Given the description of an element on the screen output the (x, y) to click on. 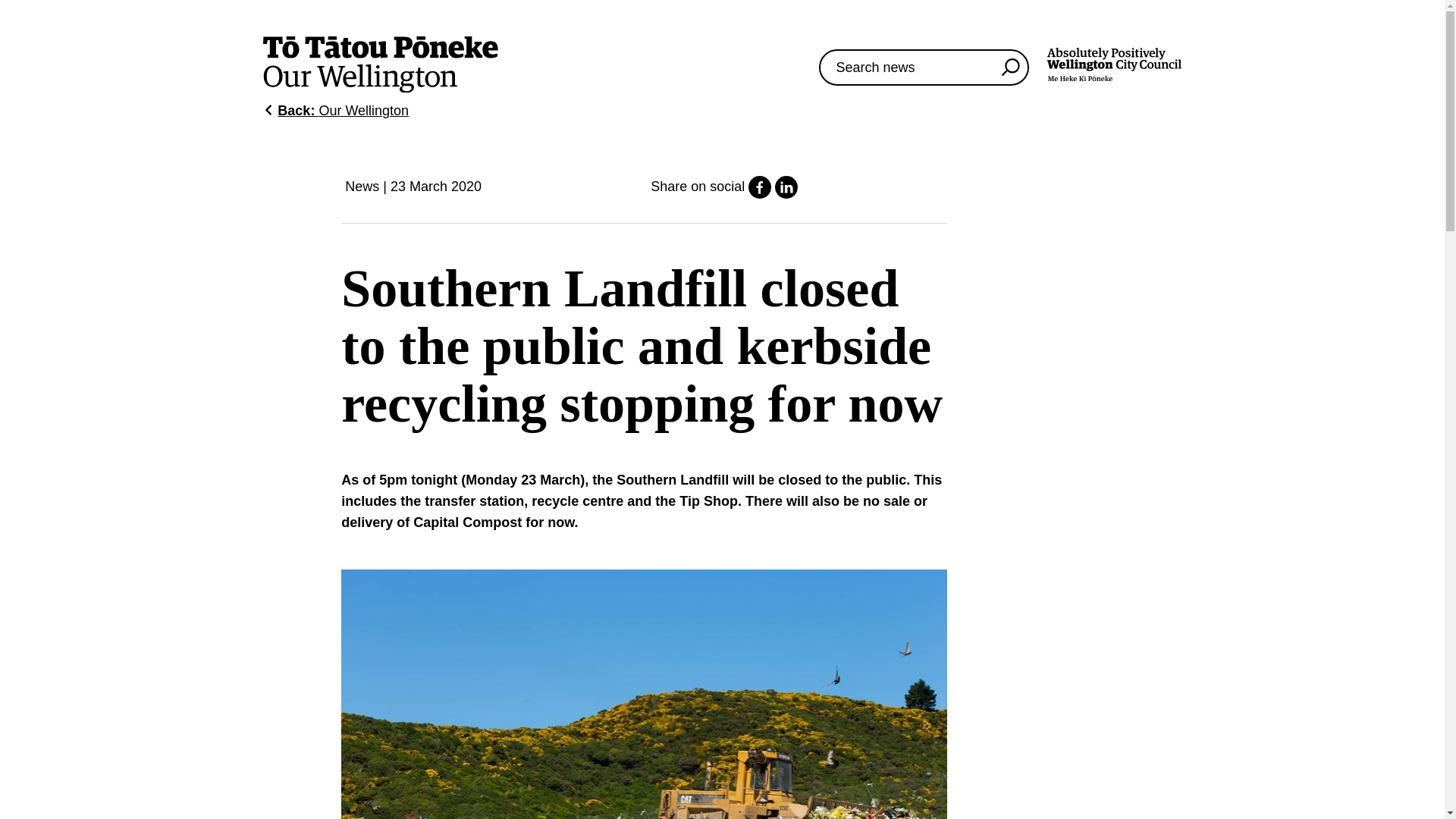
Back: Our Wellington (336, 110)
Share this article on Linkedin (785, 193)
Search online information (923, 67)
Search news (1009, 67)
Search news (1009, 67)
Share this article on Facebook (759, 193)
Wellington City Council (1113, 64)
Search news (1113, 66)
